Given the description of an element on the screen output the (x, y) to click on. 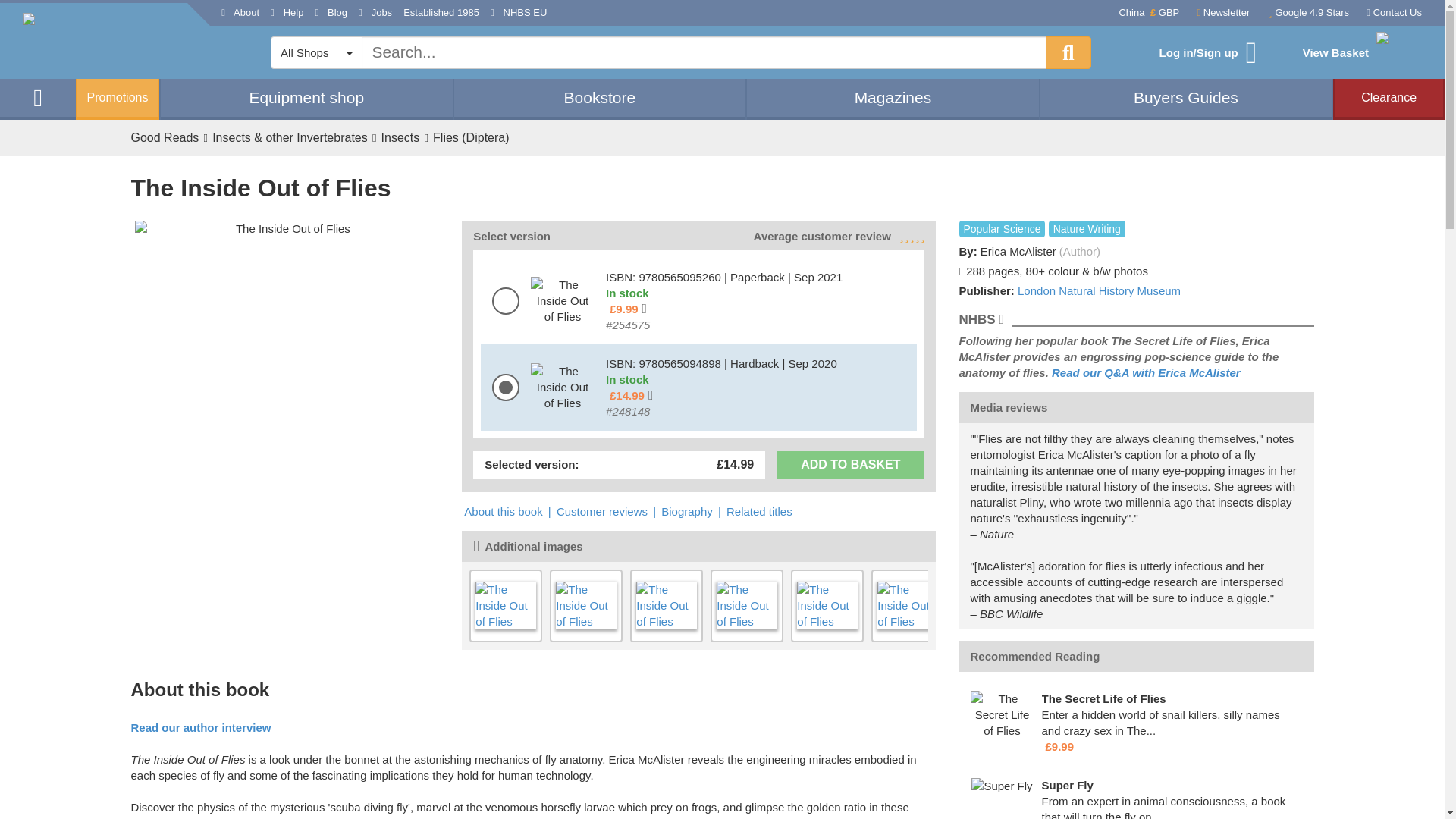
Equipment shop (306, 97)
Clearance (1388, 97)
Magazines (892, 97)
All Shops (303, 52)
Established 1985 (441, 12)
The Inside Out of Flies (287, 228)
About (240, 12)
VAT exempt (625, 308)
NHBS EU (518, 12)
Super Fly (1001, 785)
